Given the description of an element on the screen output the (x, y) to click on. 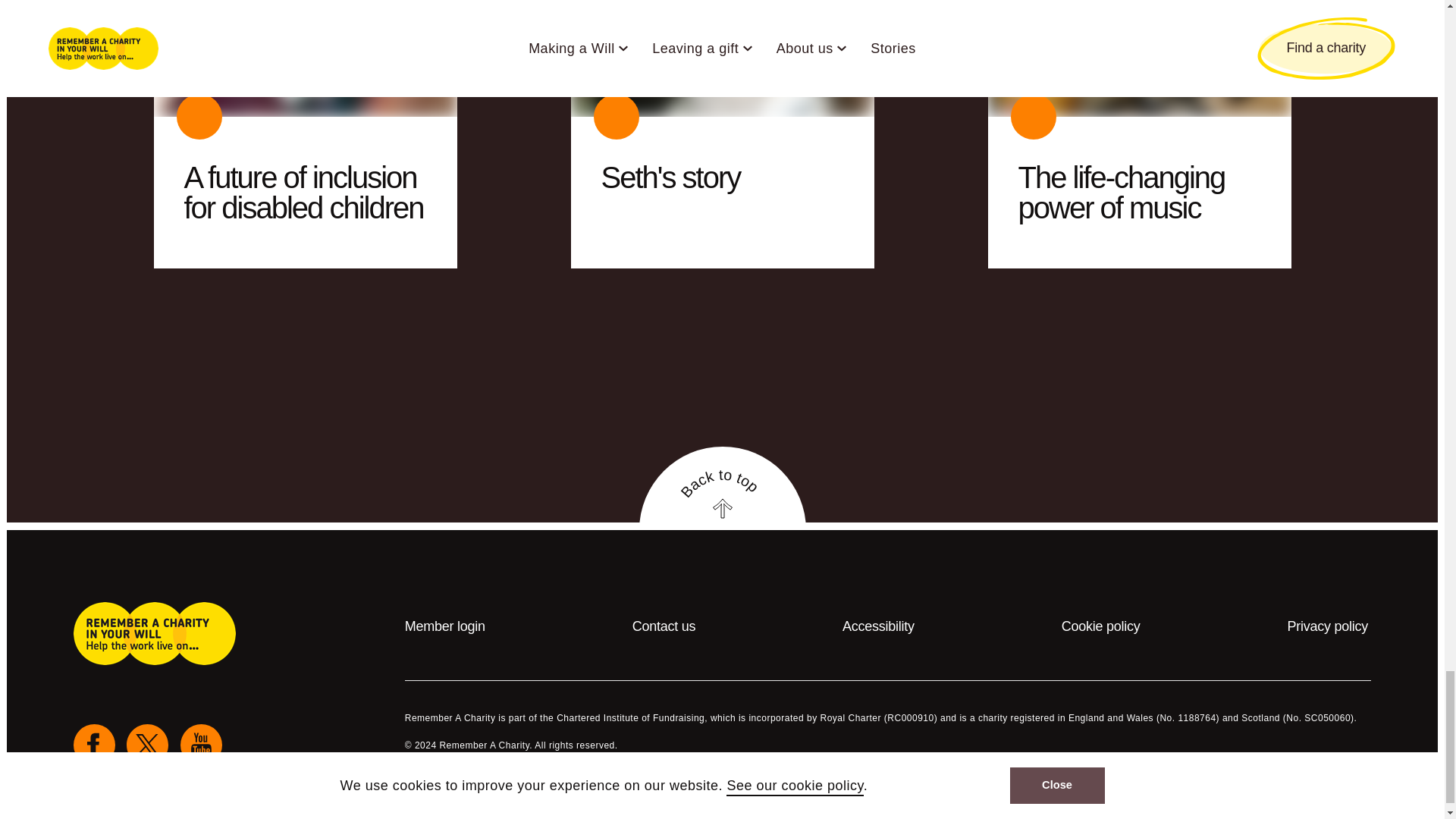
Back to top (721, 518)
A future of inclusion for disabled children (303, 192)
Back to top (722, 487)
